Given the description of an element on the screen output the (x, y) to click on. 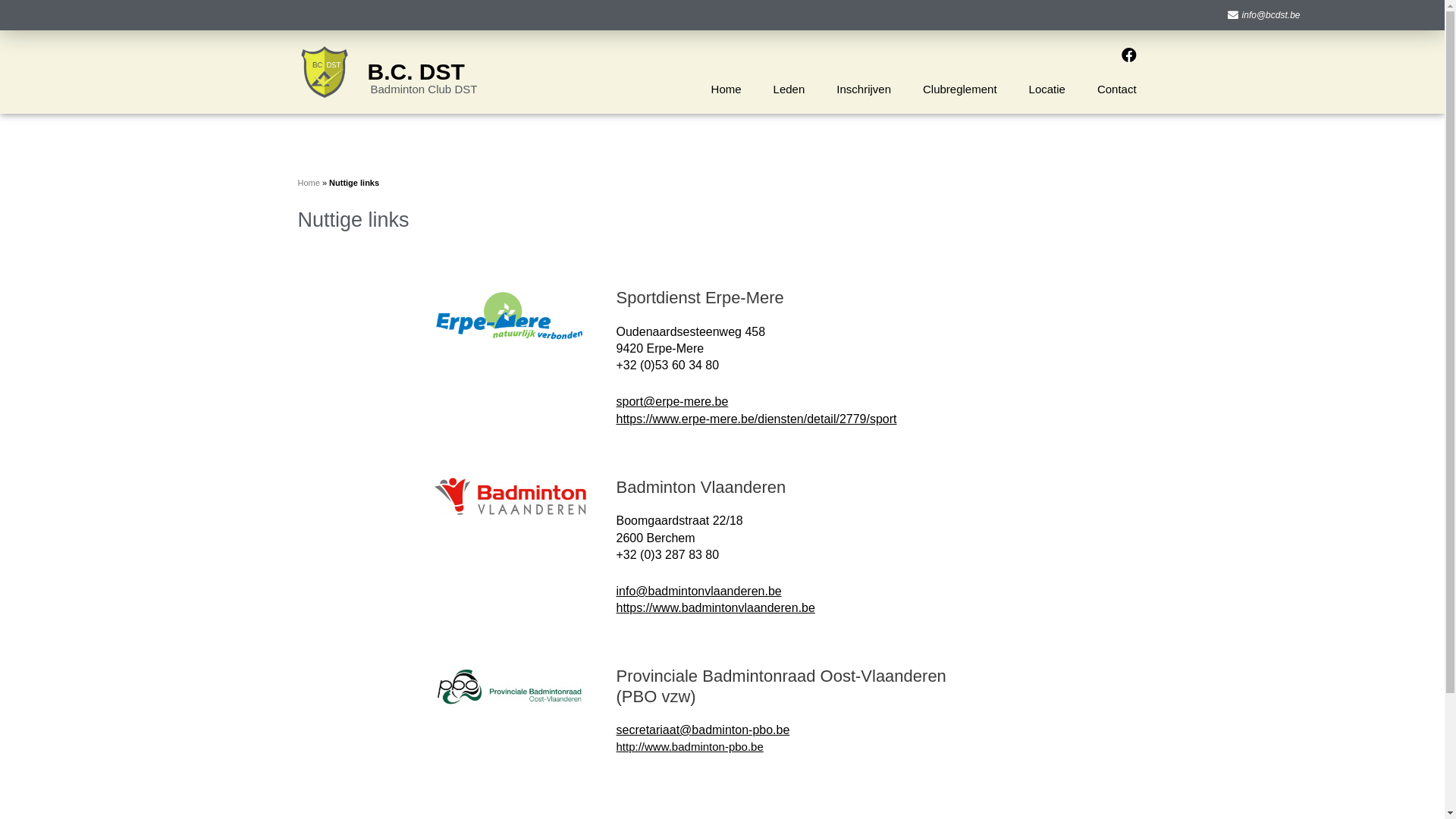
Leden Element type: text (789, 89)
Facebook Element type: text (1128, 54)
Home Element type: text (726, 89)
http://www.badminton-pbo.be Element type: text (688, 746)
sport@erpe-mere.be Element type: text (671, 401)
https://www.badmintonvlaanderen.be Element type: text (714, 607)
secretariaat@badminton-pbo.be Element type: text (702, 729)
Locatie Element type: text (1046, 89)
https://www.erpe-mere.be/diensten/detail/2779/sport Element type: text (755, 418)
Inschrijven Element type: text (863, 89)
info@bcdst.be Element type: text (721, 14)
info@badmintonvlaanderen.be Element type: text (698, 590)
Home Element type: text (308, 182)
B.C. DST Element type: text (415, 71)
Clubreglement Element type: text (959, 89)
Contact Element type: text (1116, 89)
